Given the description of an element on the screen output the (x, y) to click on. 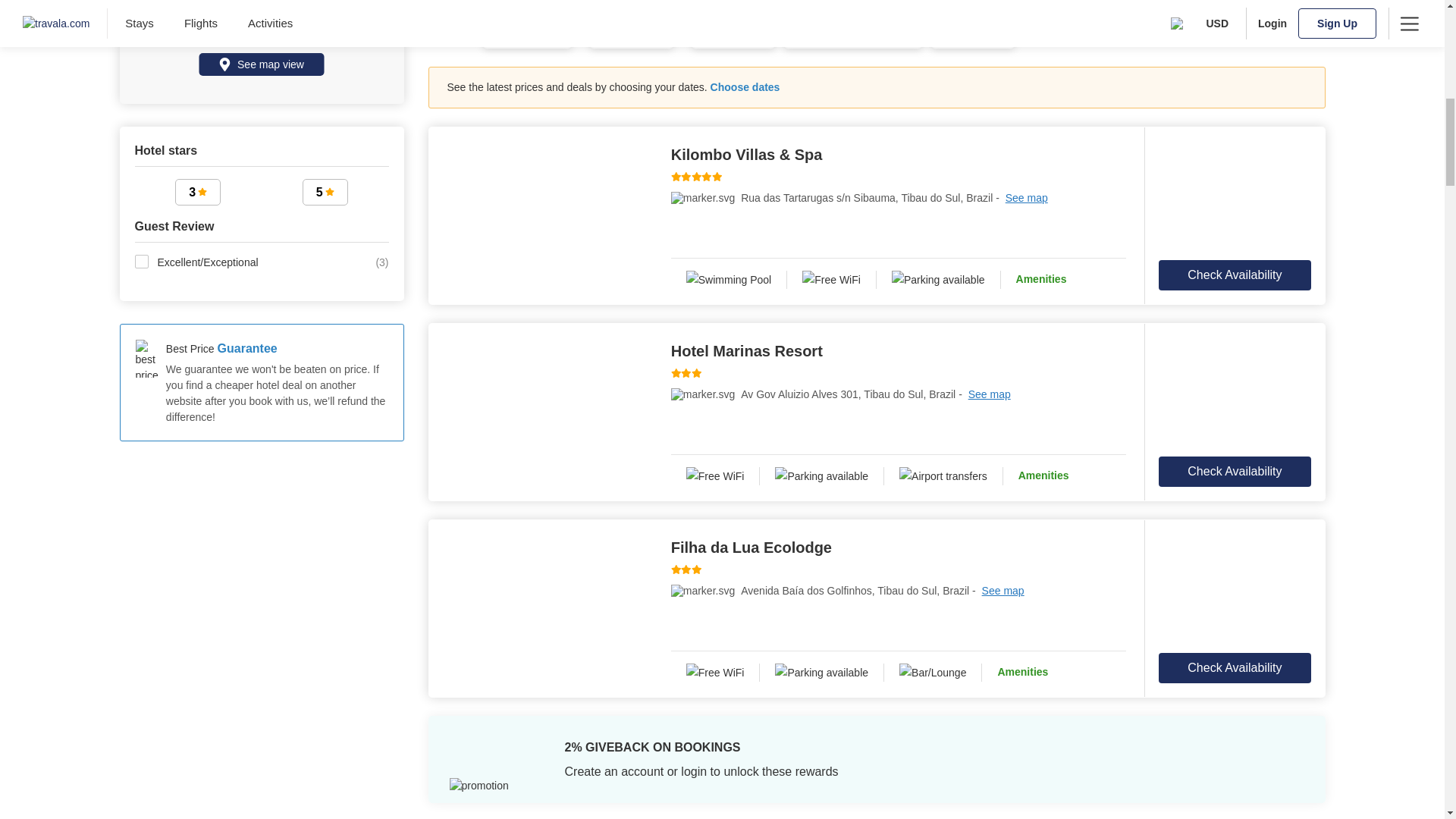
Parking available (821, 672)
Parking available (821, 475)
Free WiFi (715, 475)
Airport transfers (943, 475)
Parking available (938, 280)
Swimming Pool (729, 280)
Free WiFi (831, 280)
Free WiFi (715, 672)
